Given the description of an element on the screen output the (x, y) to click on. 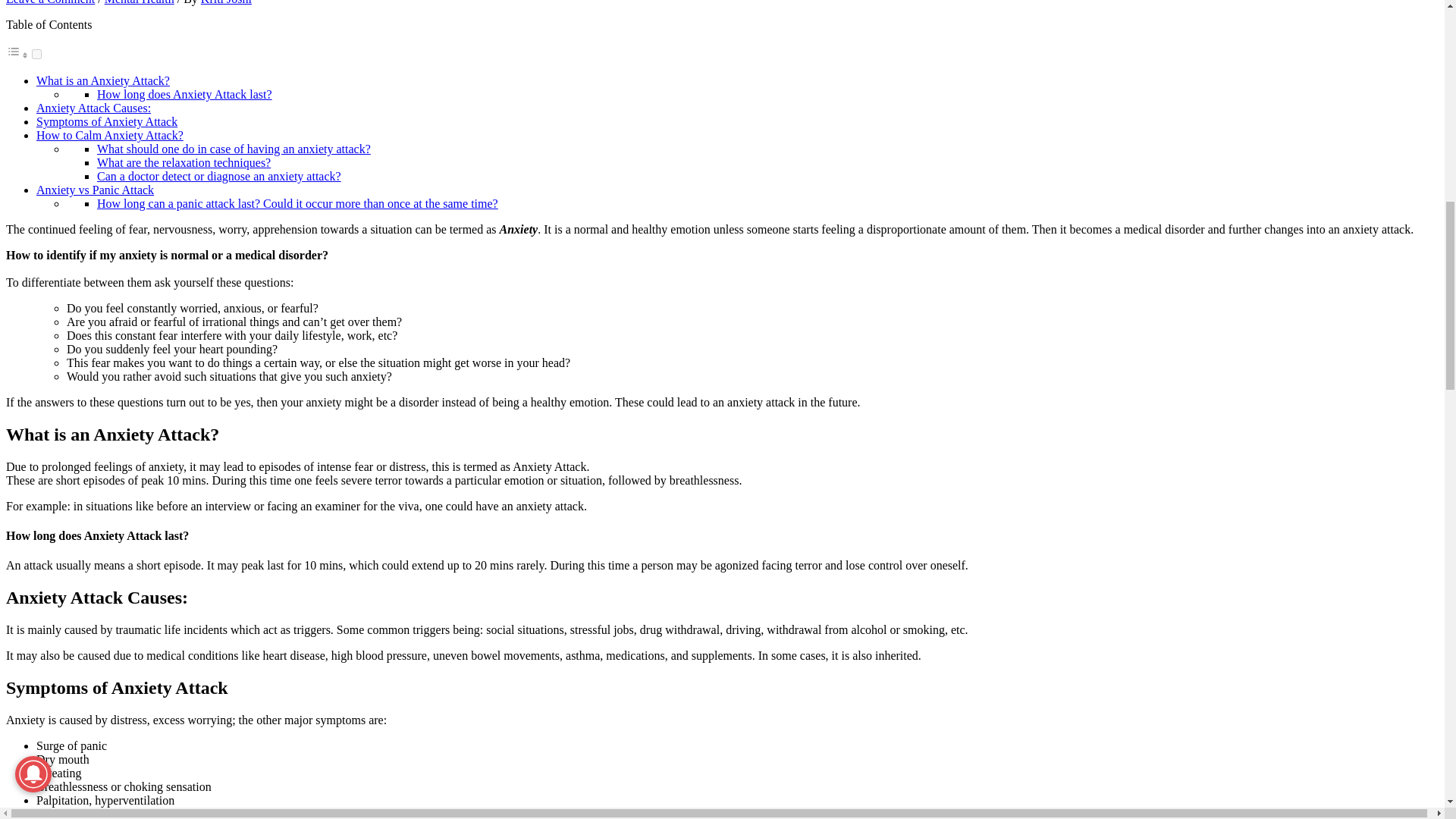
Can a doctor detect or diagnose an anxiety attack? (218, 175)
What is an Anxiety Attack? (103, 80)
What are the relaxation techniques? (183, 162)
Anxiety vs Panic Attack (95, 189)
Anxiety vs Panic Attack (95, 189)
What is an Anxiety Attack? (103, 80)
What should one do in case of having an anxiety attack? (234, 148)
How long does Anxiety Attack last? (184, 93)
Can a doctor detect or diagnose an anxiety attack? (218, 175)
How long does Anxiety Attack last? (184, 93)
Anxiety Attack Causes:  (93, 107)
How to Calm Anxiety Attack? (109, 134)
Kriti Joshi (225, 2)
What are the relaxation techniques? (183, 162)
What should one do in case of having an anxiety attack? (234, 148)
